Given the description of an element on the screen output the (x, y) to click on. 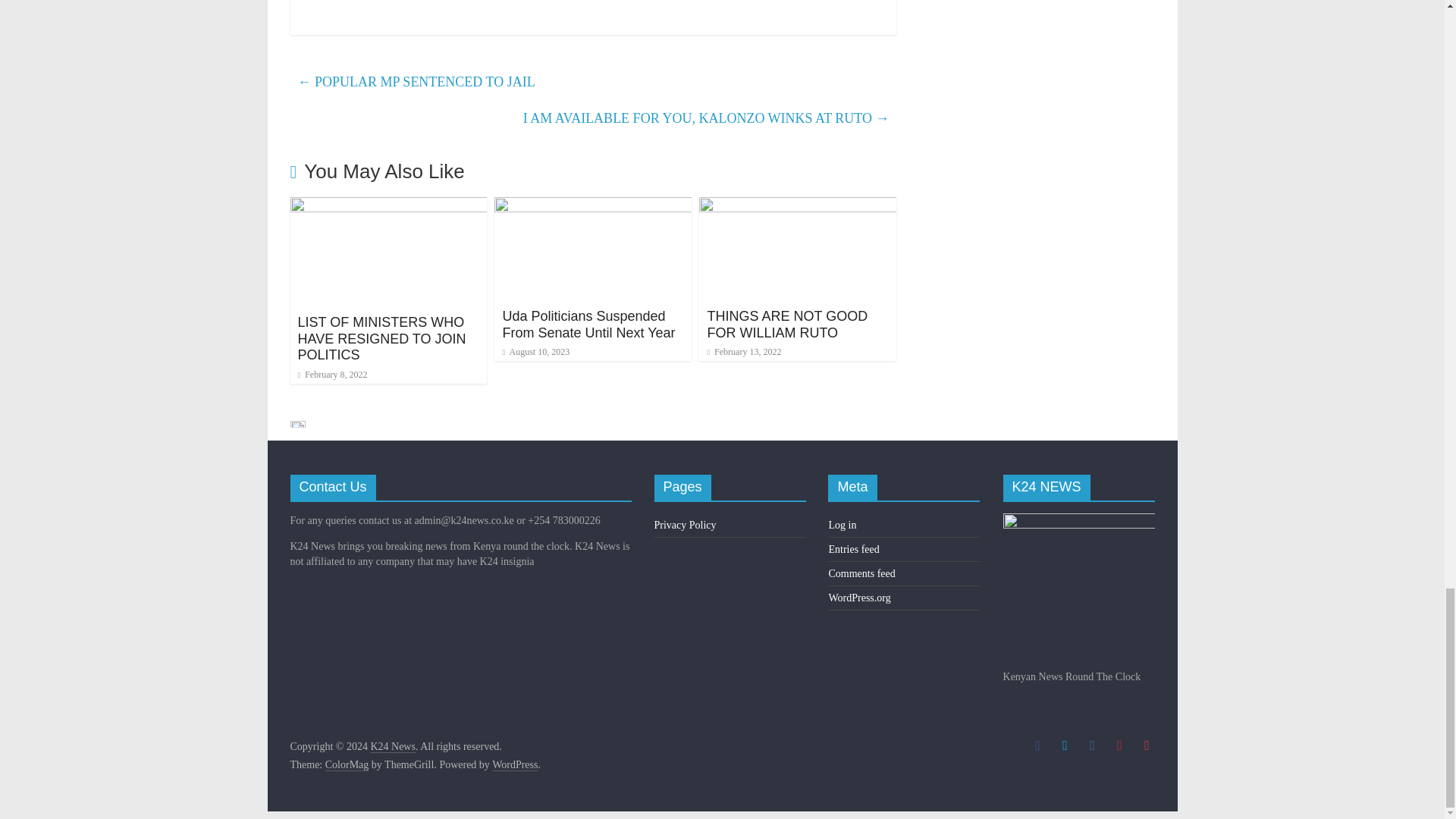
Uda Politicians Suspended From Senate Until Next Year (588, 324)
February 8, 2022 (331, 374)
LIST OF MINISTERS WHO HAVE RESIGNED TO JOIN POLITICS (387, 205)
LIST OF MINISTERS WHO HAVE RESIGNED TO JOIN POLITICS (381, 338)
